Given the description of an element on the screen output the (x, y) to click on. 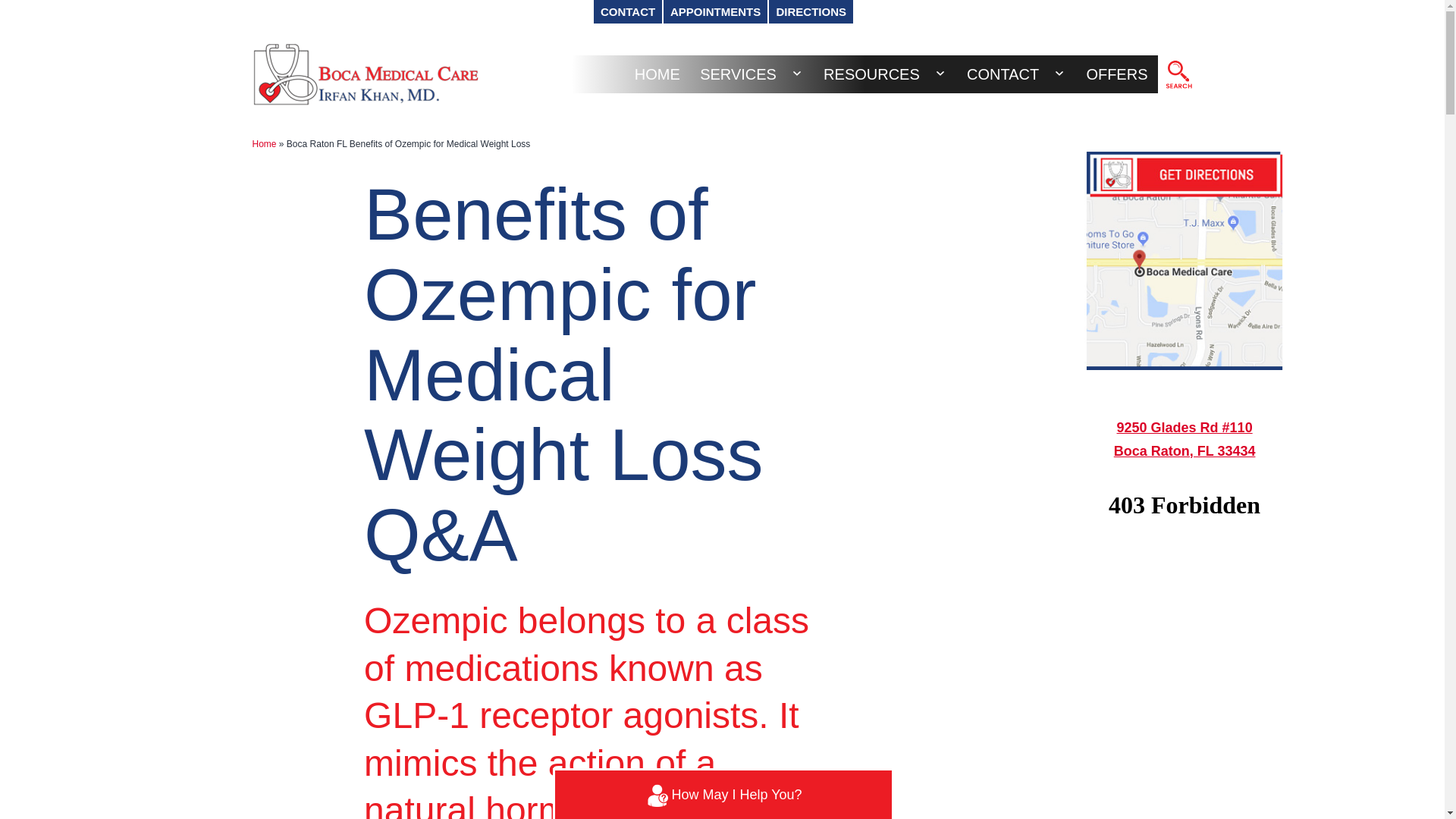
Open menu (796, 73)
DIRECTIONS (810, 11)
RESOURCES (871, 73)
Directions to Boca Medical Care in Boca Raton, FL (1184, 260)
SERVICES (738, 73)
CONTACT (628, 11)
Boca Medical Care, Medical Weight Loss Clinic (1174, 74)
HOME (657, 73)
APPOINTMENTS (715, 11)
Open menu (939, 73)
